Given the description of an element on the screen output the (x, y) to click on. 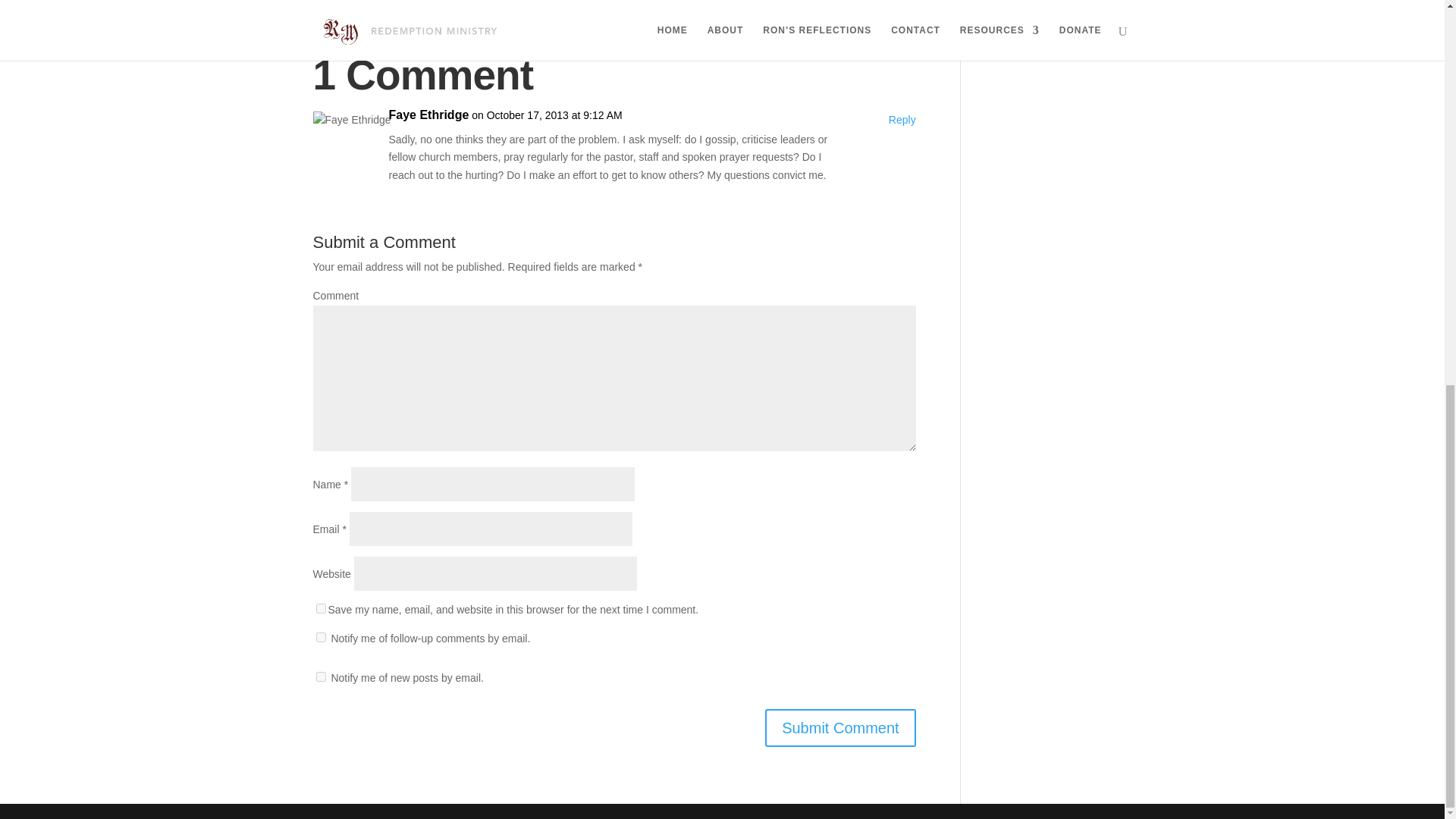
yes (319, 608)
Reply (901, 120)
subscribe (319, 676)
Submit Comment (840, 727)
subscribe (319, 637)
Submit Comment (840, 727)
